Given the description of an element on the screen output the (x, y) to click on. 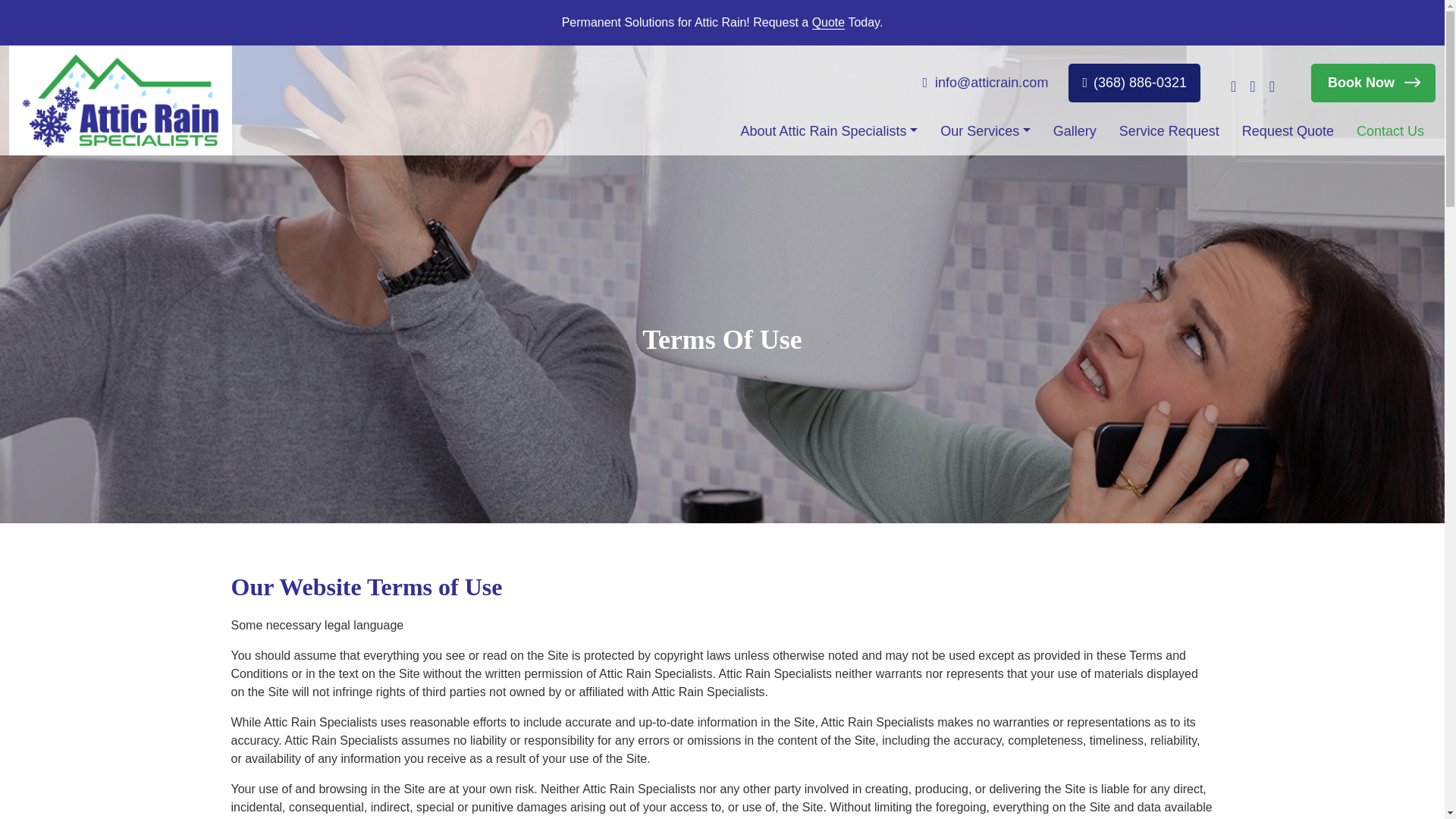
Book Now (1373, 82)
Our Services (985, 131)
About Attic Rain Specialists (828, 131)
Gallery (1074, 131)
Service Request (1169, 131)
Request Quote (1287, 131)
Quote (828, 22)
